Given the description of an element on the screen output the (x, y) to click on. 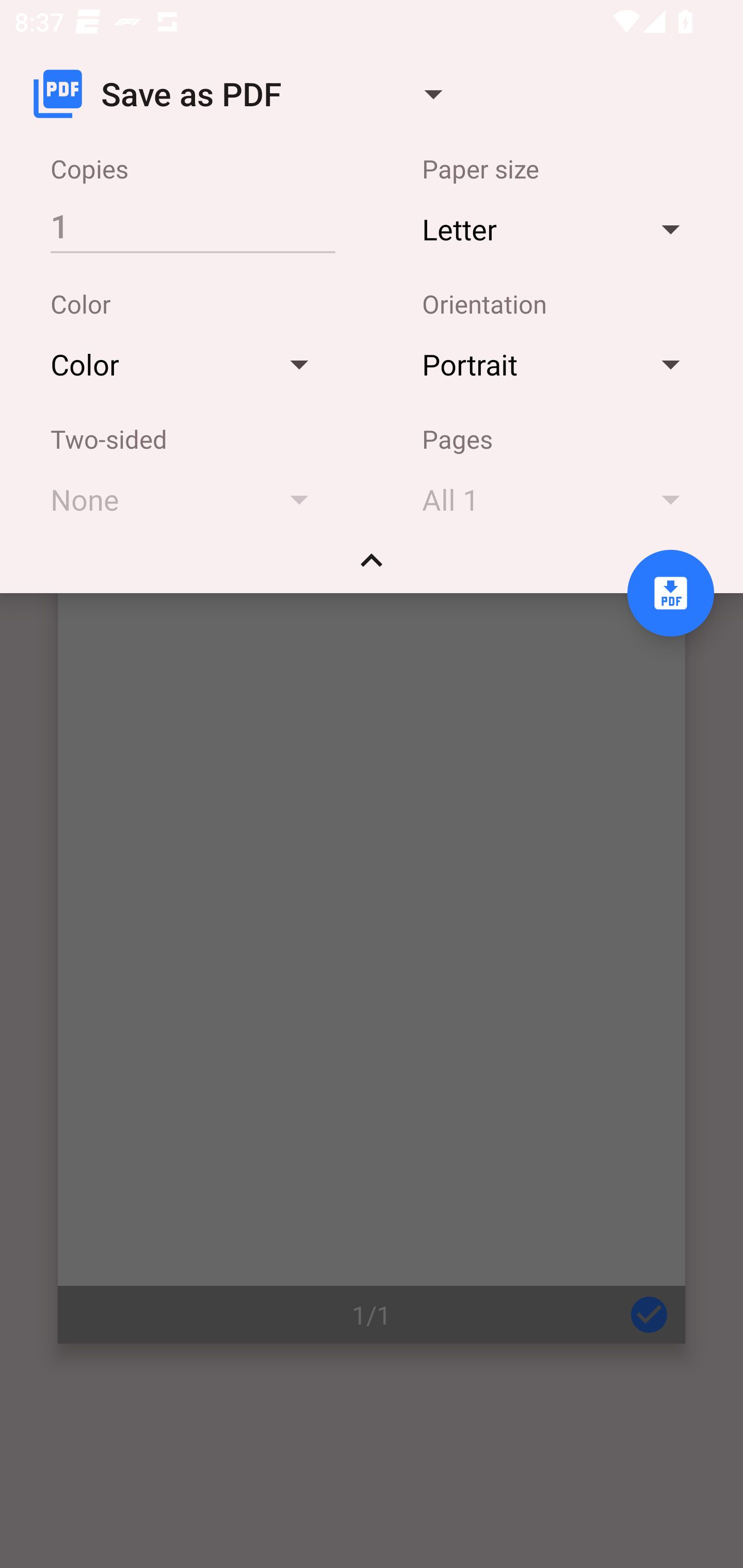
Save as PDF (245, 93)
1 (192, 225)
Letter (560, 228)
Color (189, 364)
Portrait (560, 364)
None (189, 499)
All 1 (560, 499)
Collapse handle (371, 567)
Save to PDF (670, 593)
